Given the description of an element on the screen output the (x, y) to click on. 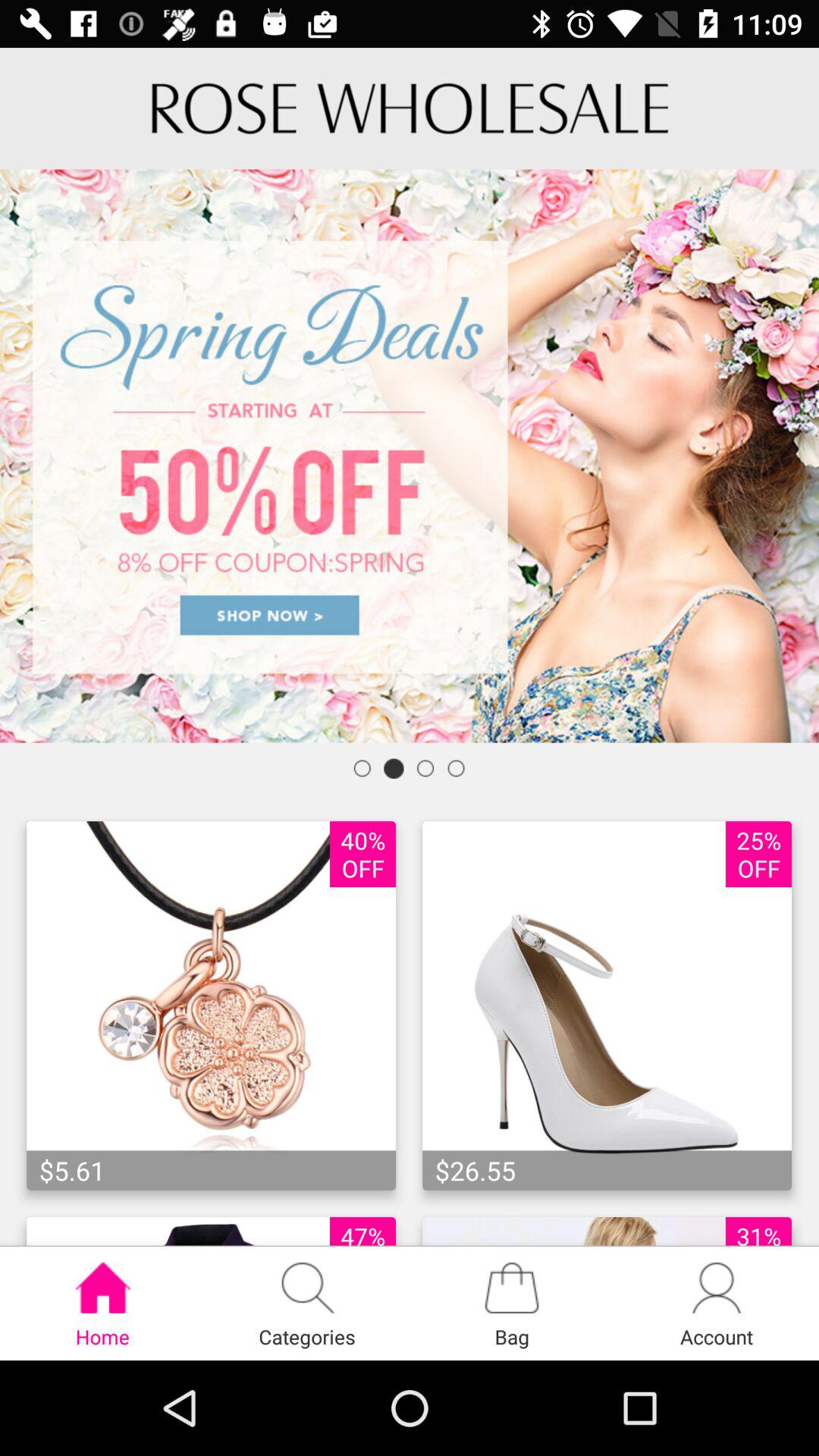
apply coupon (409, 455)
